Given the description of an element on the screen output the (x, y) to click on. 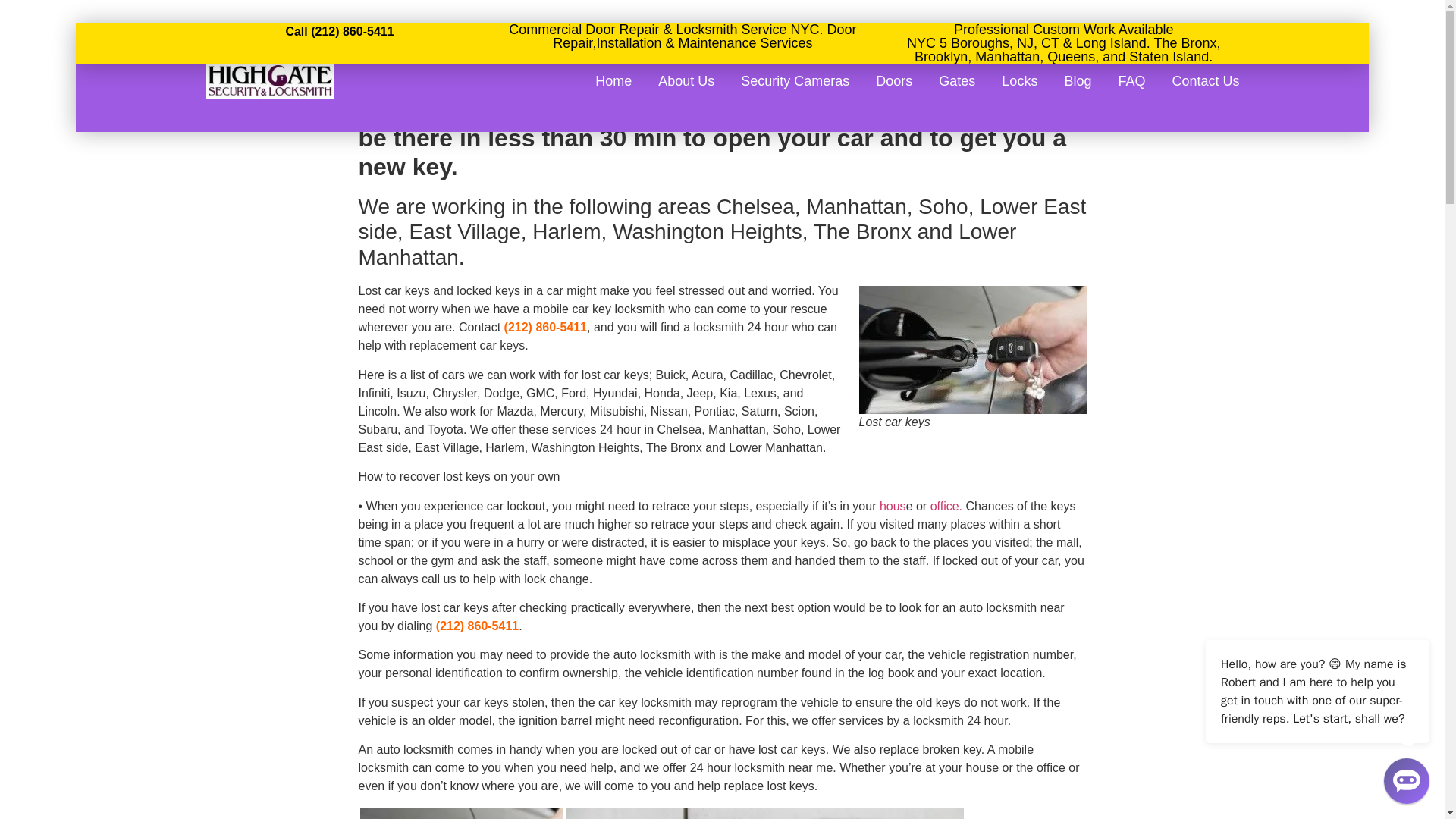
Contact Us (1205, 80)
Doors (894, 80)
Locks (1018, 80)
Security Cameras (794, 80)
Home (613, 80)
About Us (686, 80)
Gates (957, 80)
